Given the description of an element on the screen output the (x, y) to click on. 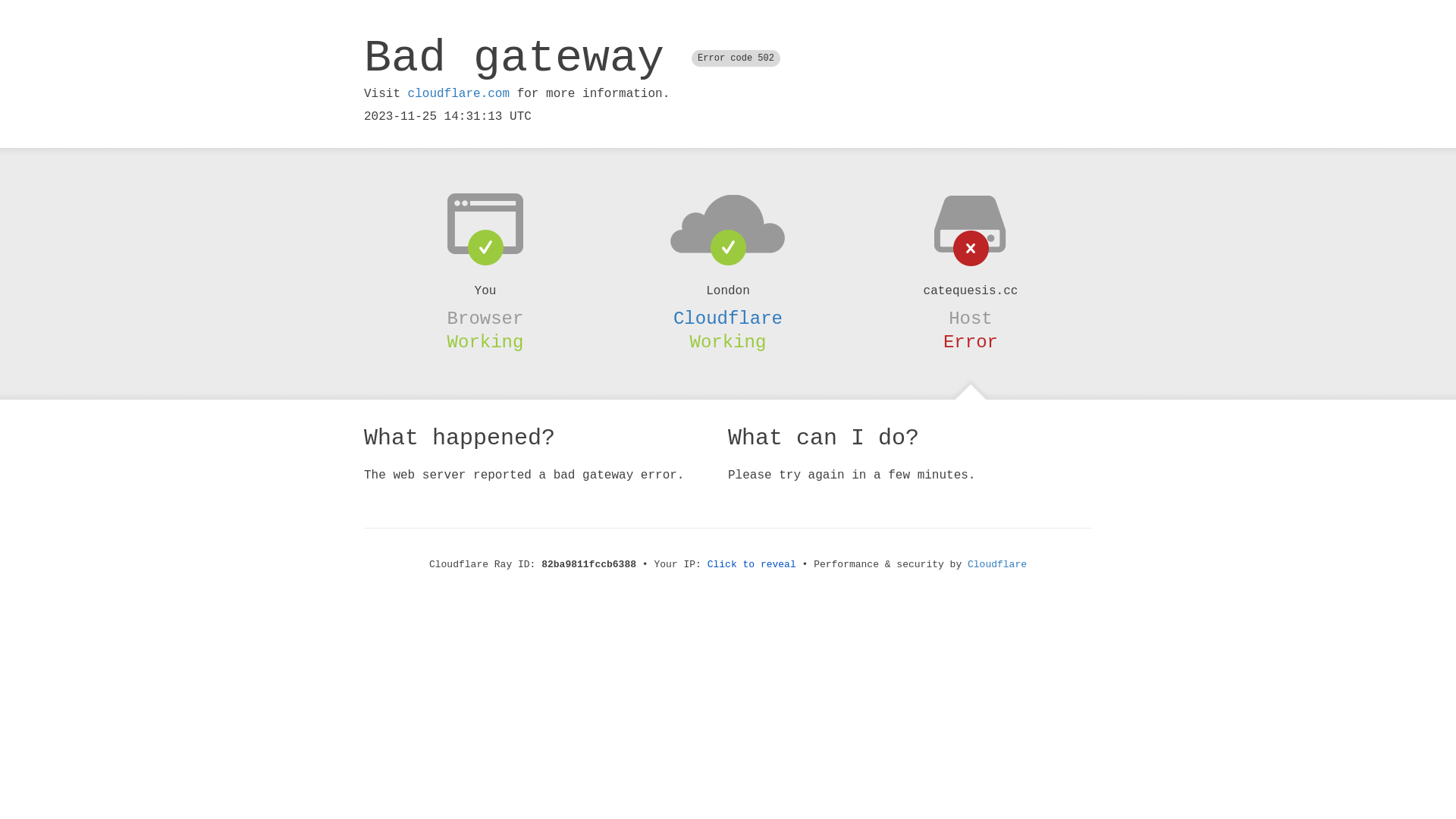
cloudflare.com Element type: text (458, 93)
Click to reveal Element type: text (751, 564)
Cloudflare Element type: text (727, 318)
Cloudflare Element type: text (996, 564)
